Given the description of an element on the screen output the (x, y) to click on. 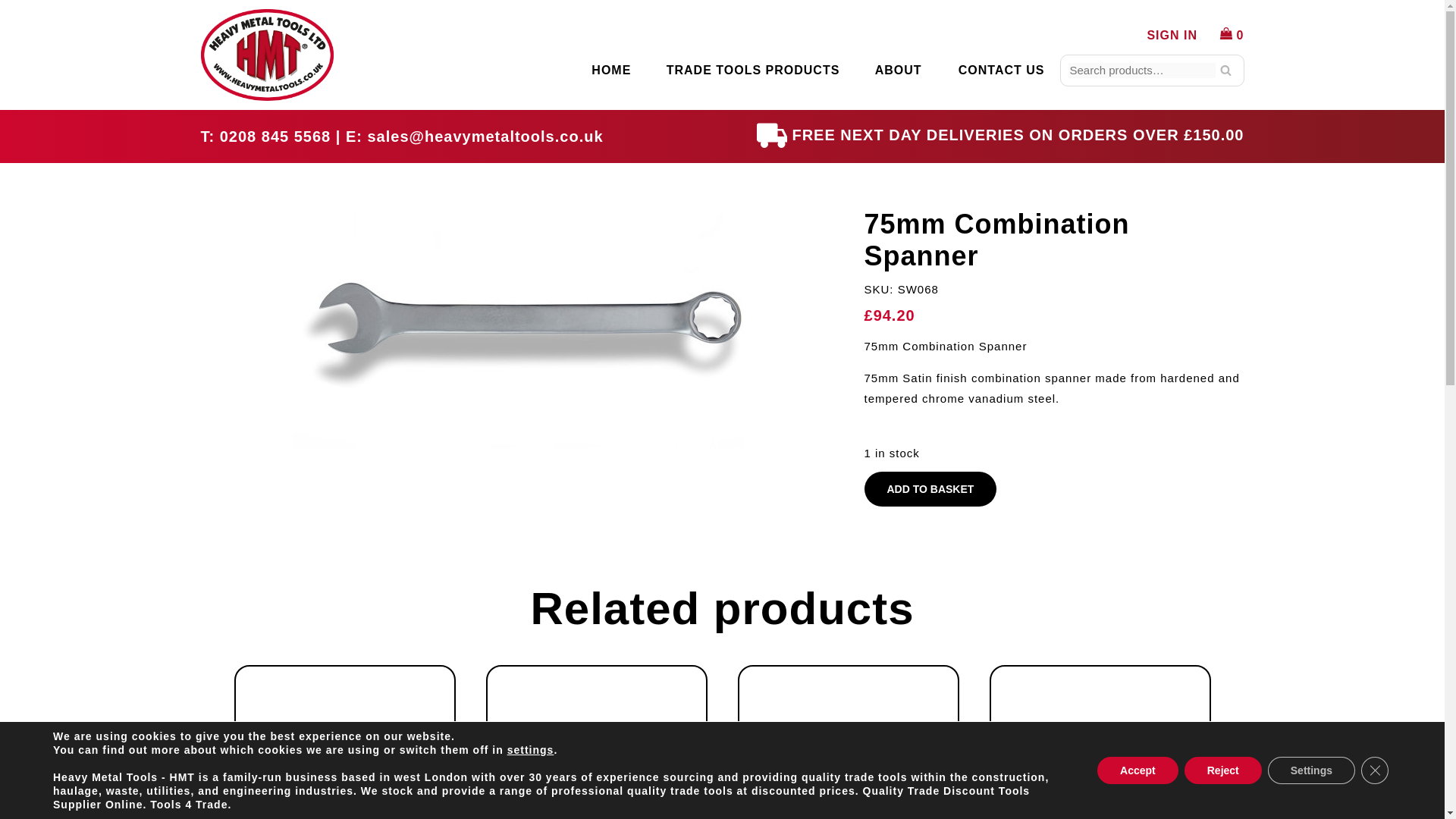
Search (1224, 69)
ADD TO BASKET (930, 488)
0 (1231, 34)
SIGN IN (1171, 35)
ABOUT (898, 70)
HOME (610, 70)
TRADE TOOLS PRODUCTS (753, 70)
0208 845 5568 (274, 135)
CONTACT US (1001, 70)
